Given the description of an element on the screen output the (x, y) to click on. 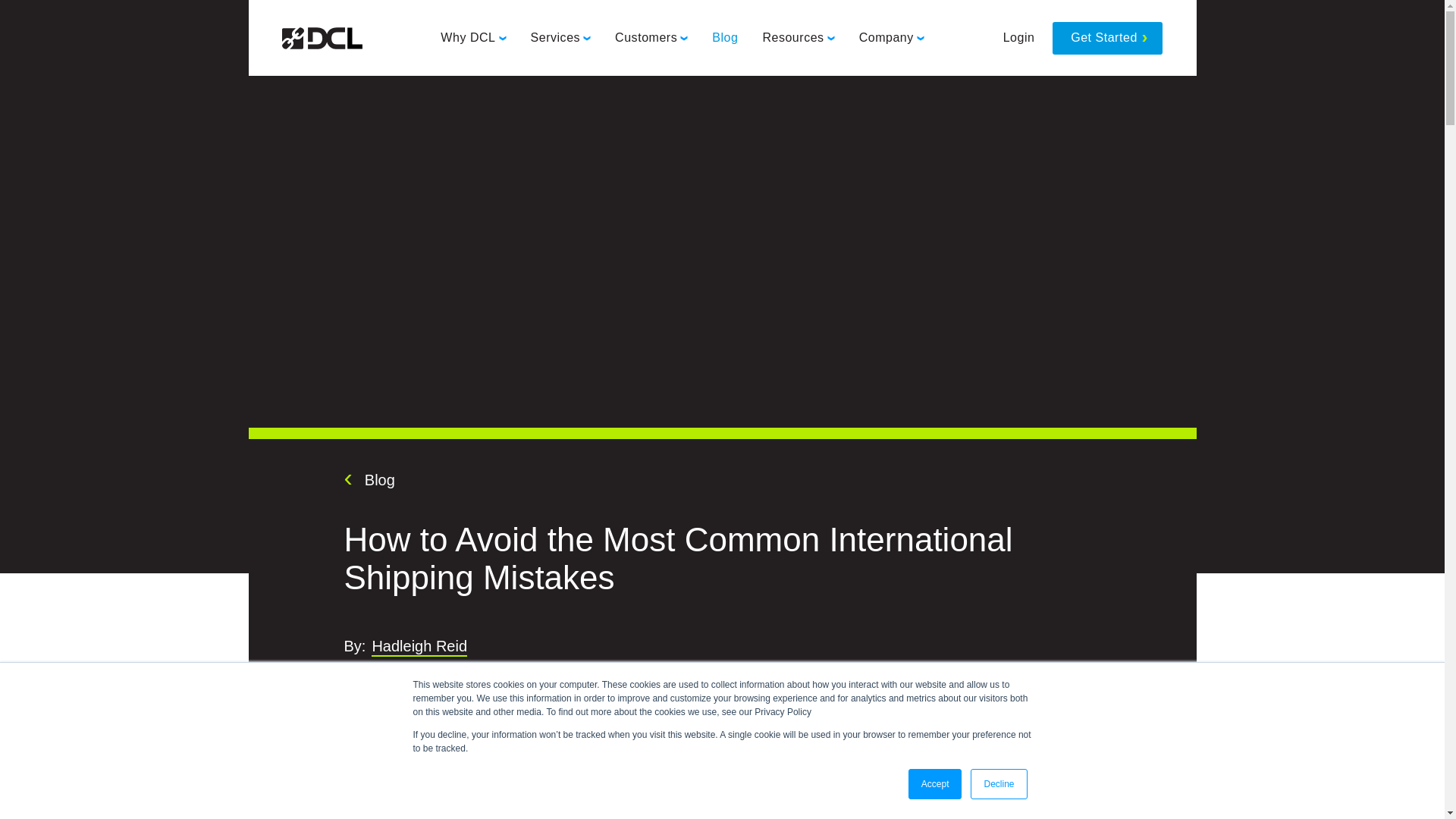
Hadleigh Reid (419, 647)
Decline (998, 784)
Accept (935, 784)
Return to homepage (322, 38)
Resources (797, 37)
Company (891, 37)
Shipping (444, 676)
Login (1019, 37)
Posts by Hadleigh Reid (419, 647)
Blog (725, 37)
